Given the description of an element on the screen output the (x, y) to click on. 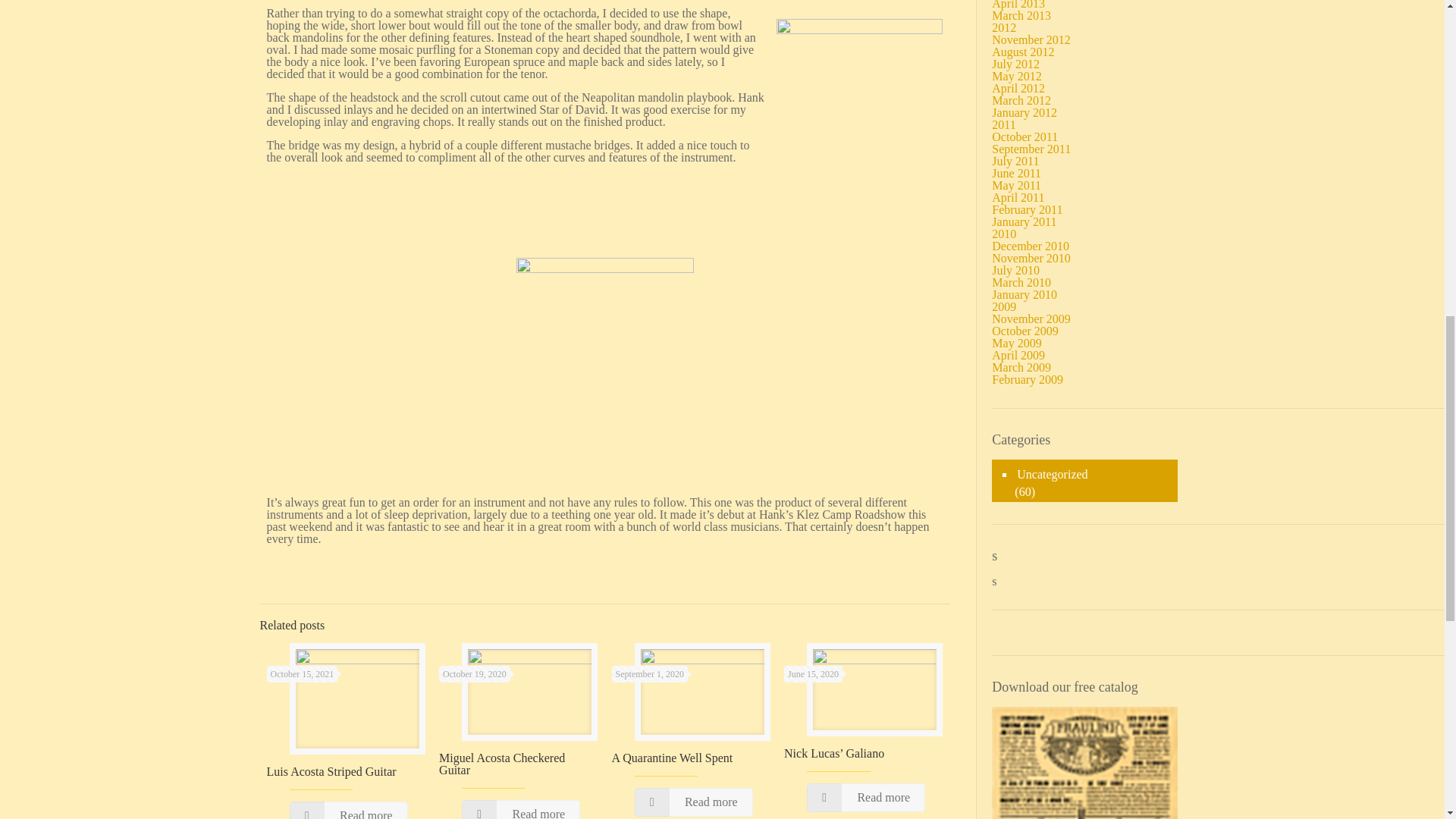
Luis Acosta Striped Guitar (331, 771)
Read more (348, 810)
